Given the description of an element on the screen output the (x, y) to click on. 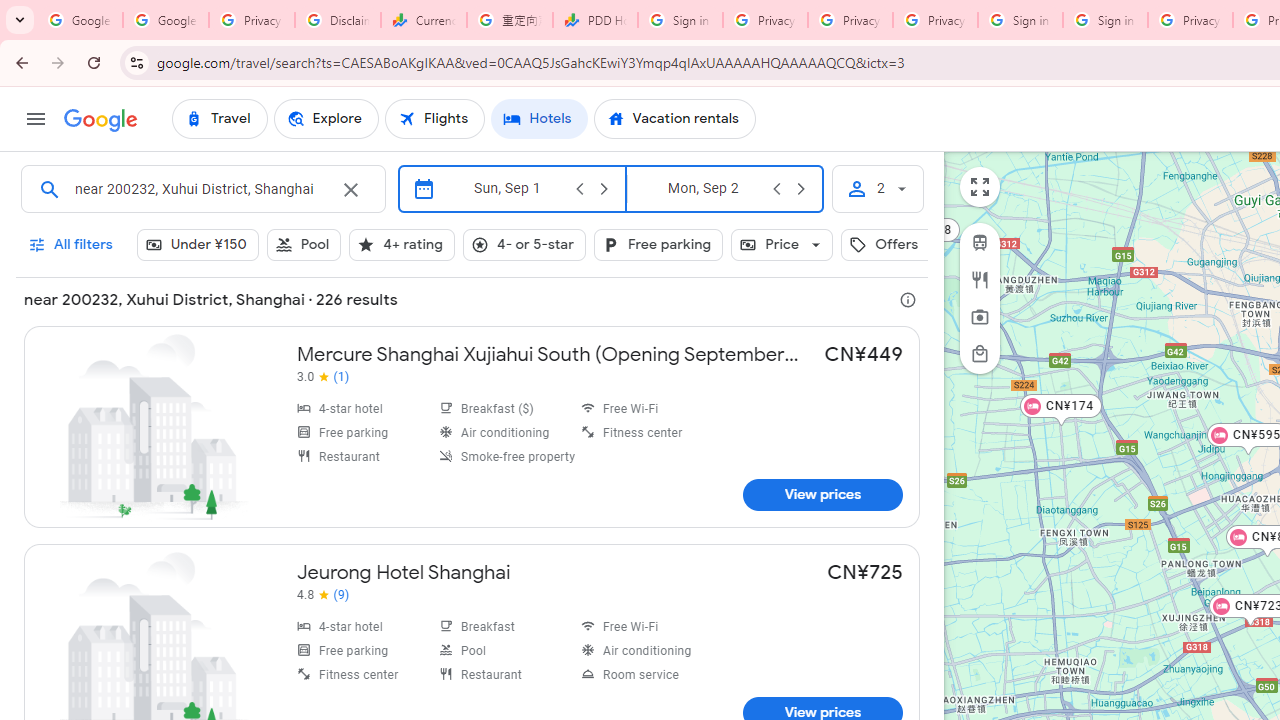
Explore (325, 118)
4+ rating, Guest rating, Not selected (401, 244)
Transit (979, 242)
Privacy Checkup (850, 20)
4.8 out of 5 stars from 9 reviews, Jeurong Hotel Shanghai (322, 594)
Privacy Checkup (935, 20)
Sign in - Google Accounts (680, 20)
